Given the description of an element on the screen output the (x, y) to click on. 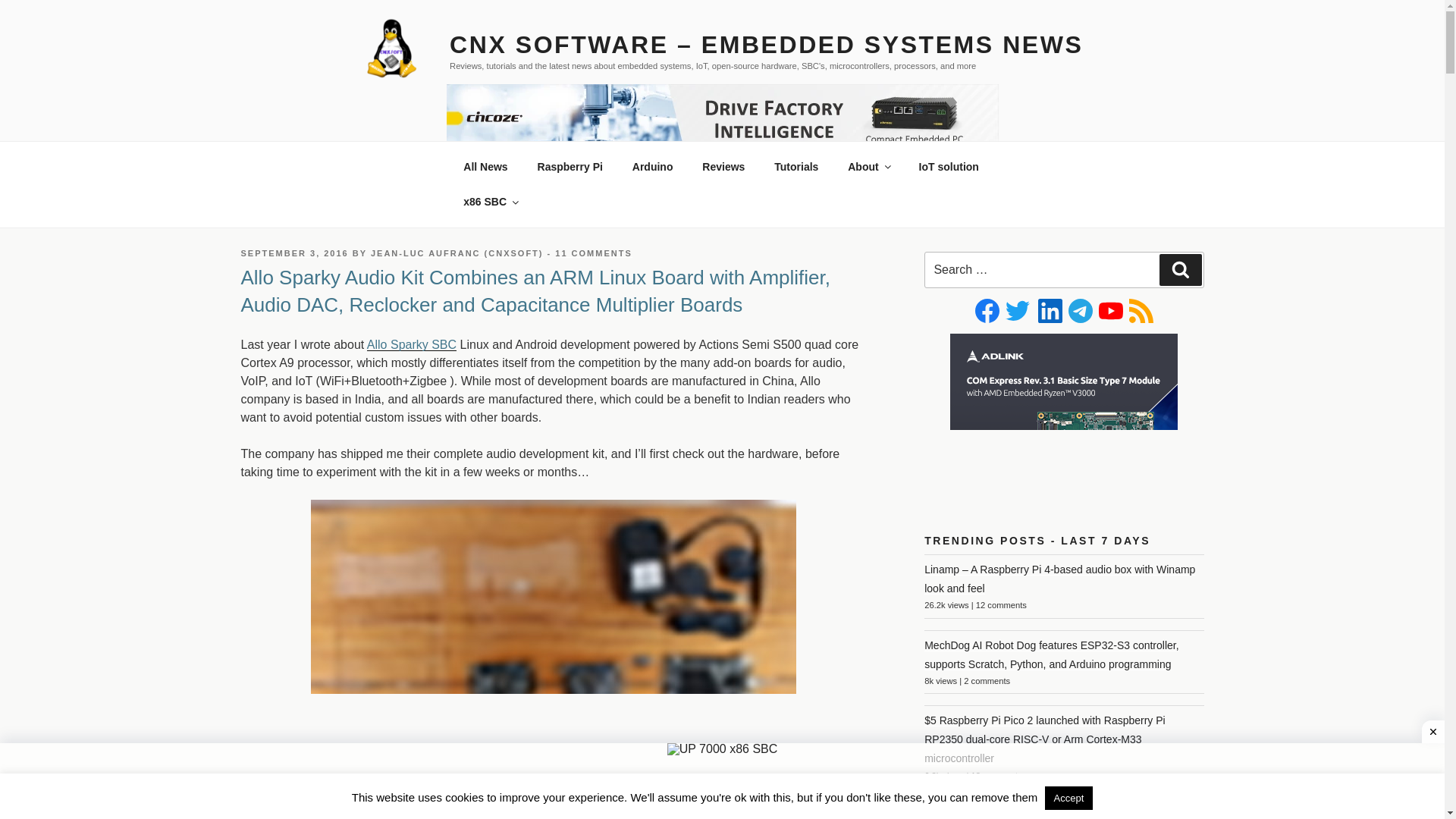
x86 SBC (490, 201)
Raspberry Pi (569, 166)
Arduino (651, 166)
About (868, 166)
Reviews (723, 166)
Purchase x86 SBCs from our sponsor (490, 201)
Sponsored (948, 166)
All News (485, 166)
IoT solution (948, 166)
